Given the description of an element on the screen output the (x, y) to click on. 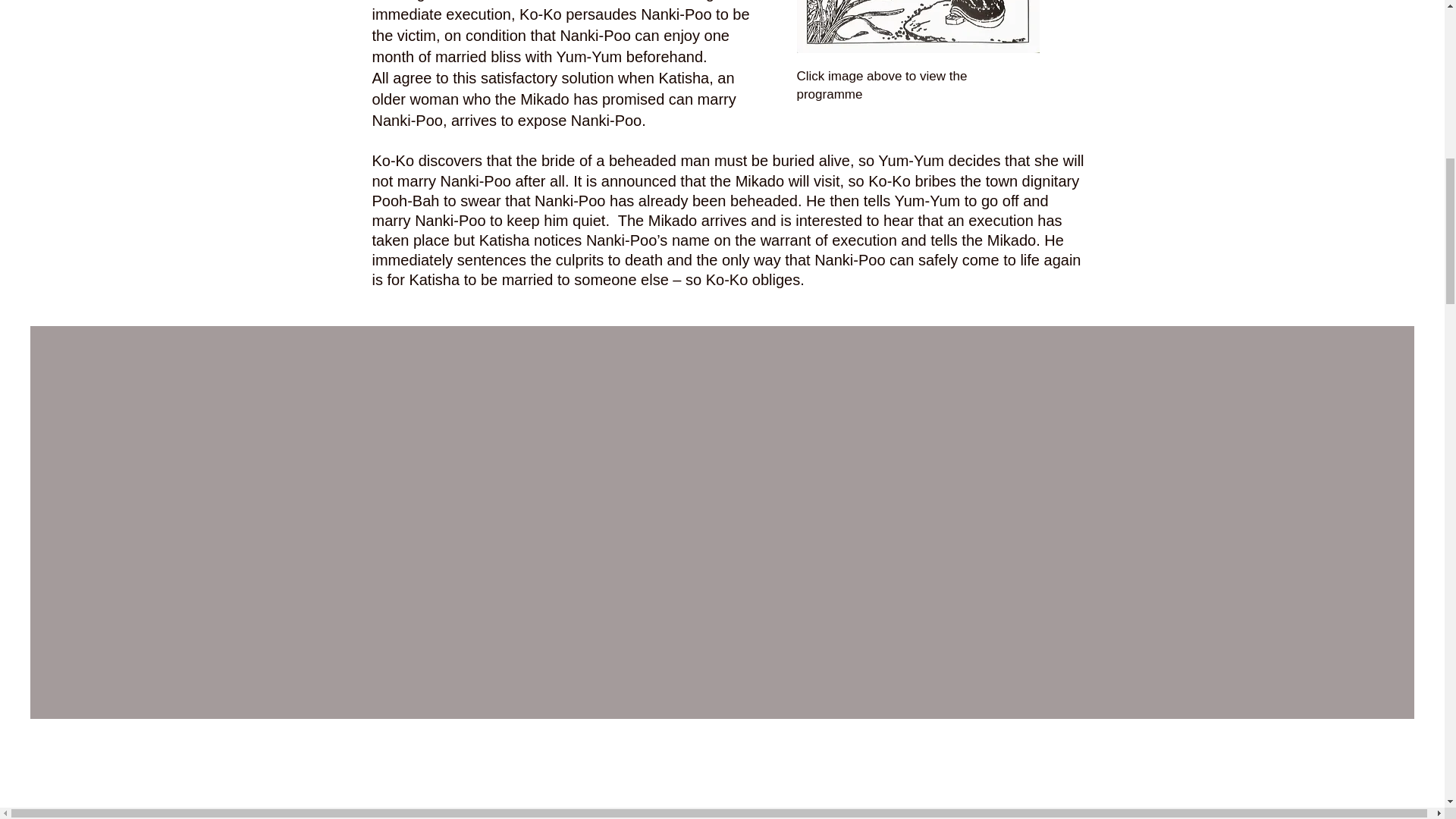
Young frankenstein flyer front.jpg (917, 26)
